Given the description of an element on the screen output the (x, y) to click on. 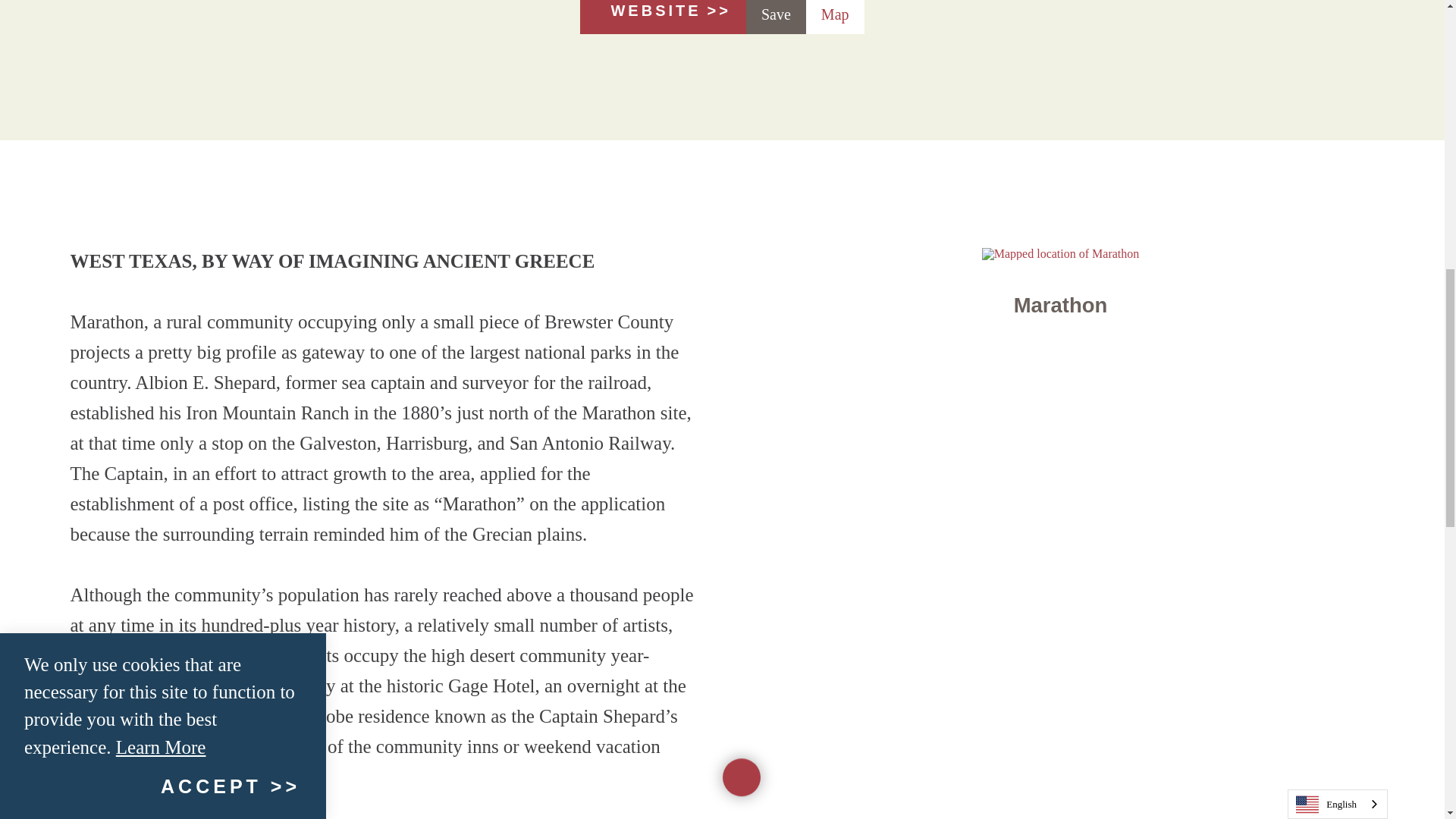
WEBSITE (662, 17)
Map (835, 17)
Save (775, 17)
